Given the description of an element on the screen output the (x, y) to click on. 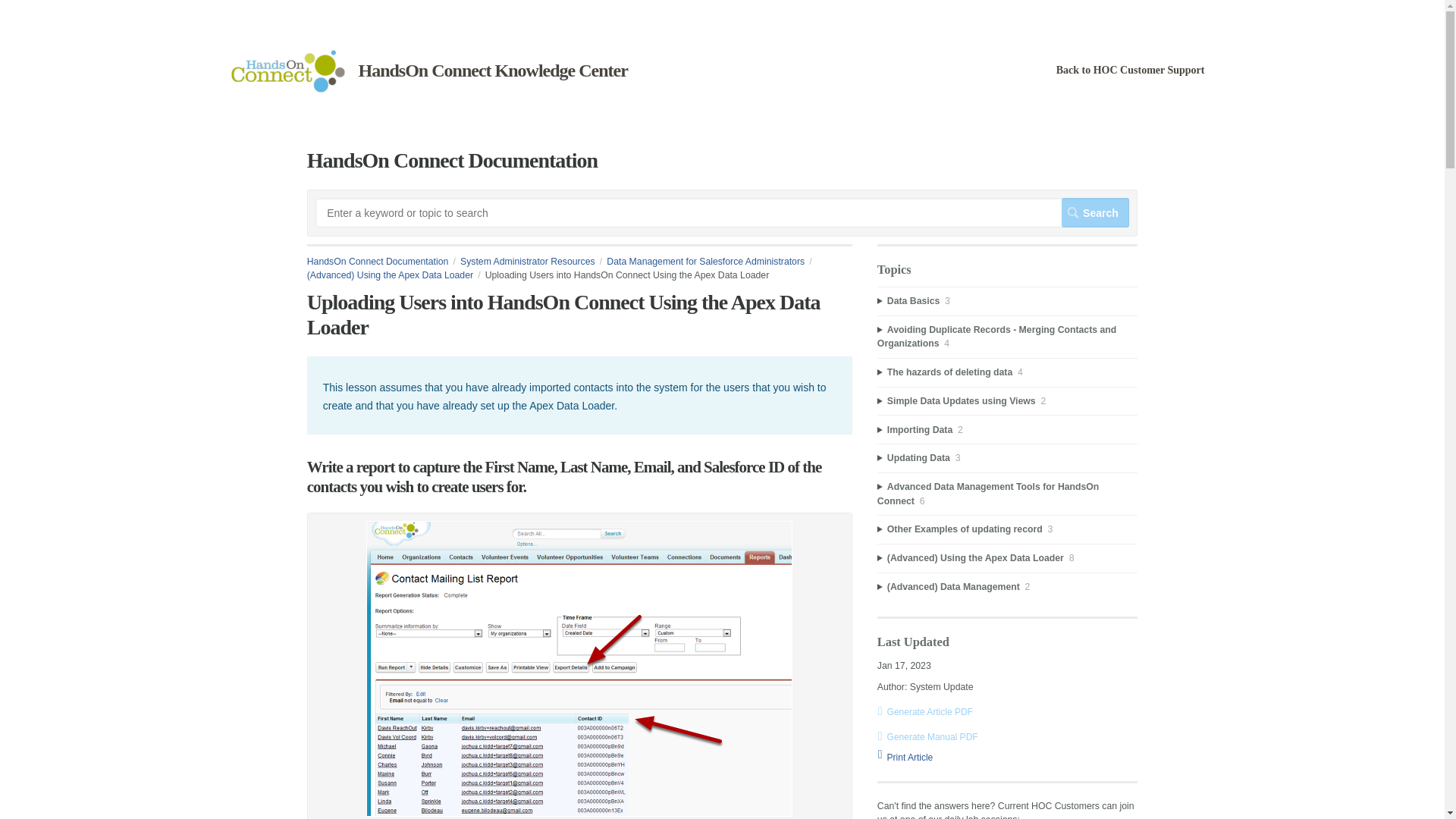
Search (1095, 212)
HandsOn Connect Documentation (287, 89)
HandsOn Connect Documentation (383, 261)
Data Management for Salesforce Administrators (711, 261)
System Administrator Resources (533, 261)
Search (1095, 212)
Search (1095, 212)
Back to HOC Customer Support (1131, 70)
